Given the description of an element on the screen output the (x, y) to click on. 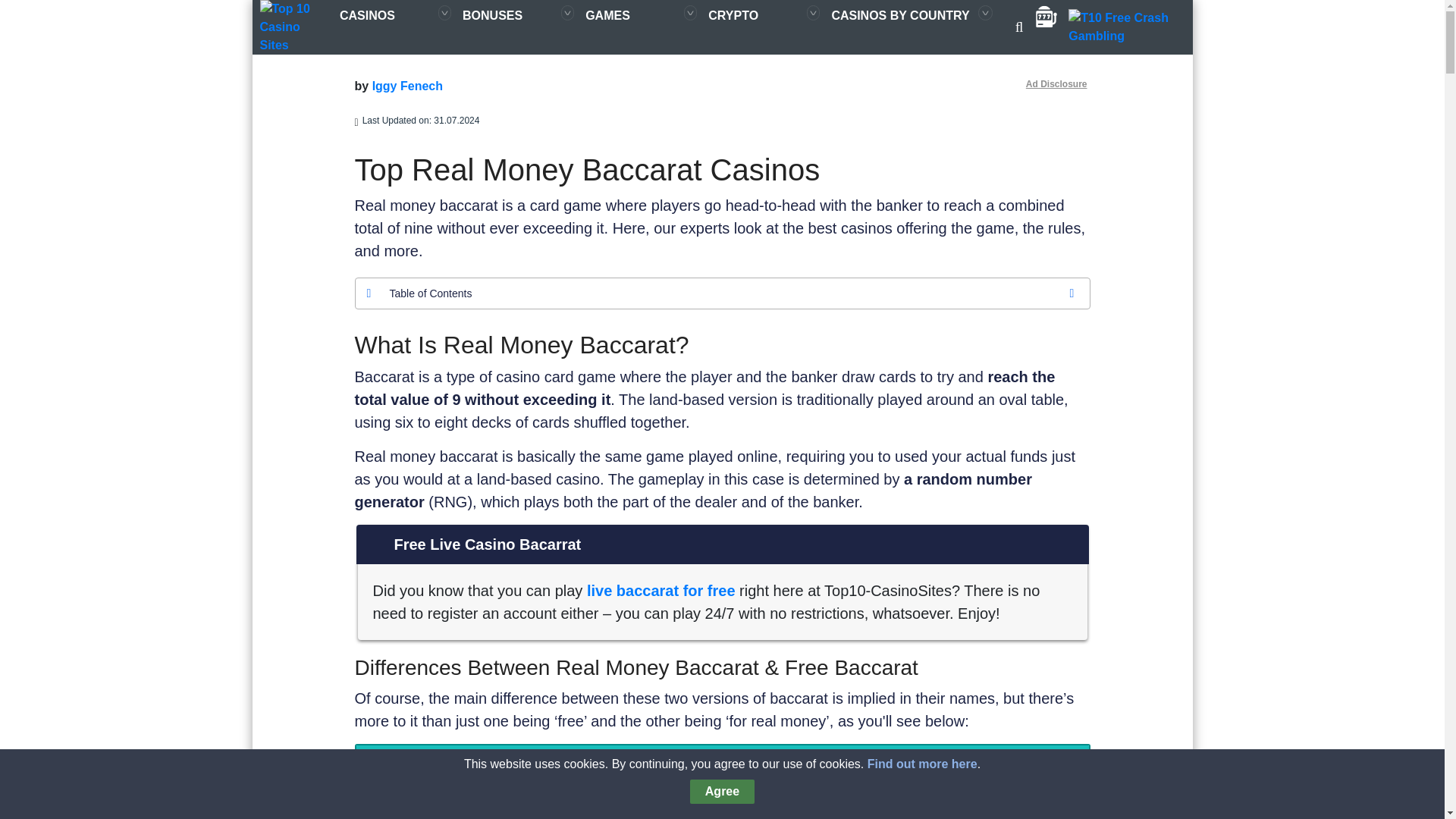
Find out more here (921, 763)
CASINOS (384, 15)
Agree (722, 791)
